Given the description of an element on the screen output the (x, y) to click on. 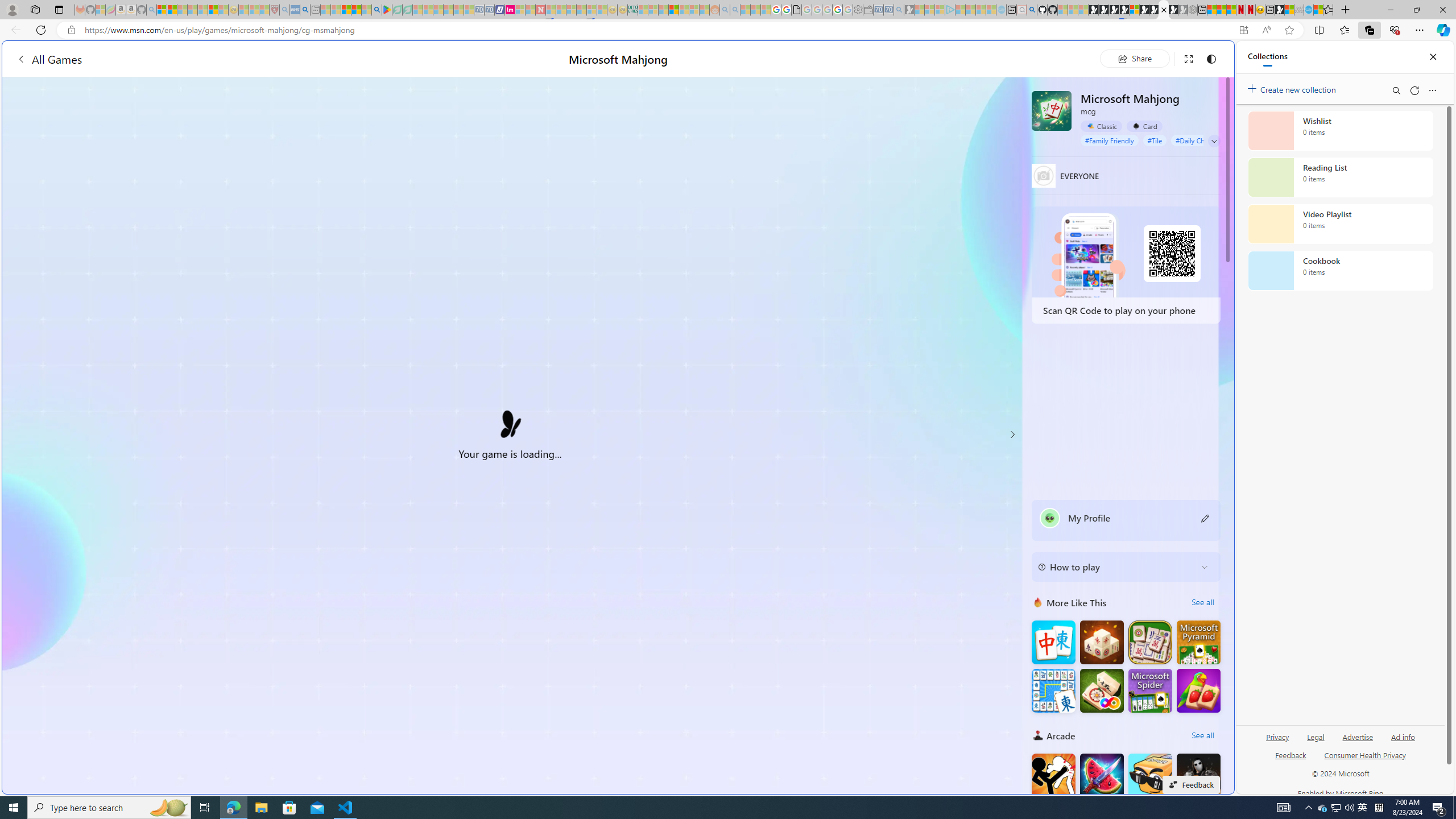
Services - Maintenance | Sky Blue Bikes - Sky Blue Bikes (1307, 9)
Fruit Chopper (1101, 775)
Solitaire Mahjong Juicy (1198, 690)
Bluey: Let's Play! - Apps on Google Play (387, 9)
More options menu (1432, 90)
